Given the description of an element on the screen output the (x, y) to click on. 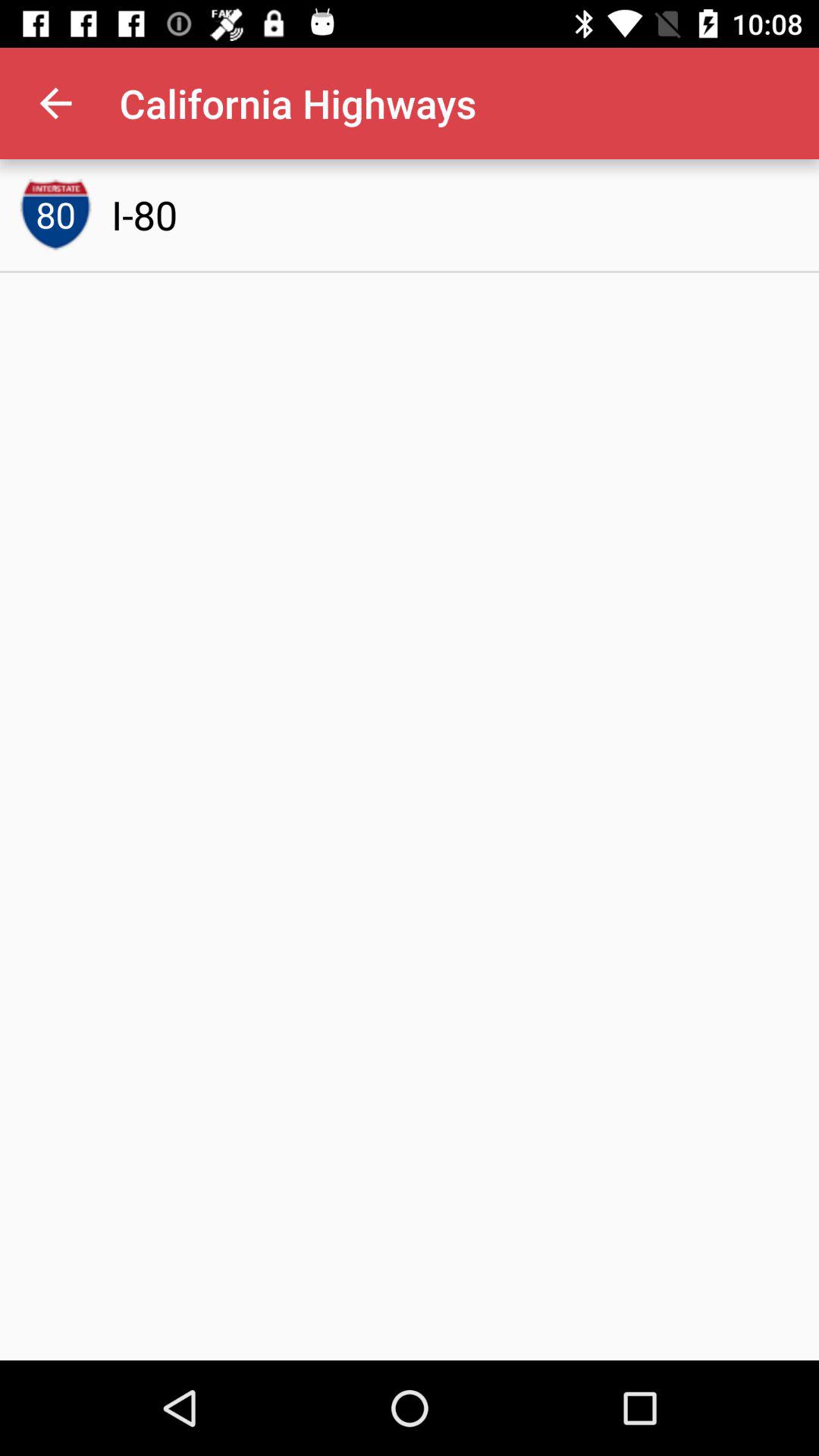
turn on the i-80 item (144, 214)
